Given the description of an element on the screen output the (x, y) to click on. 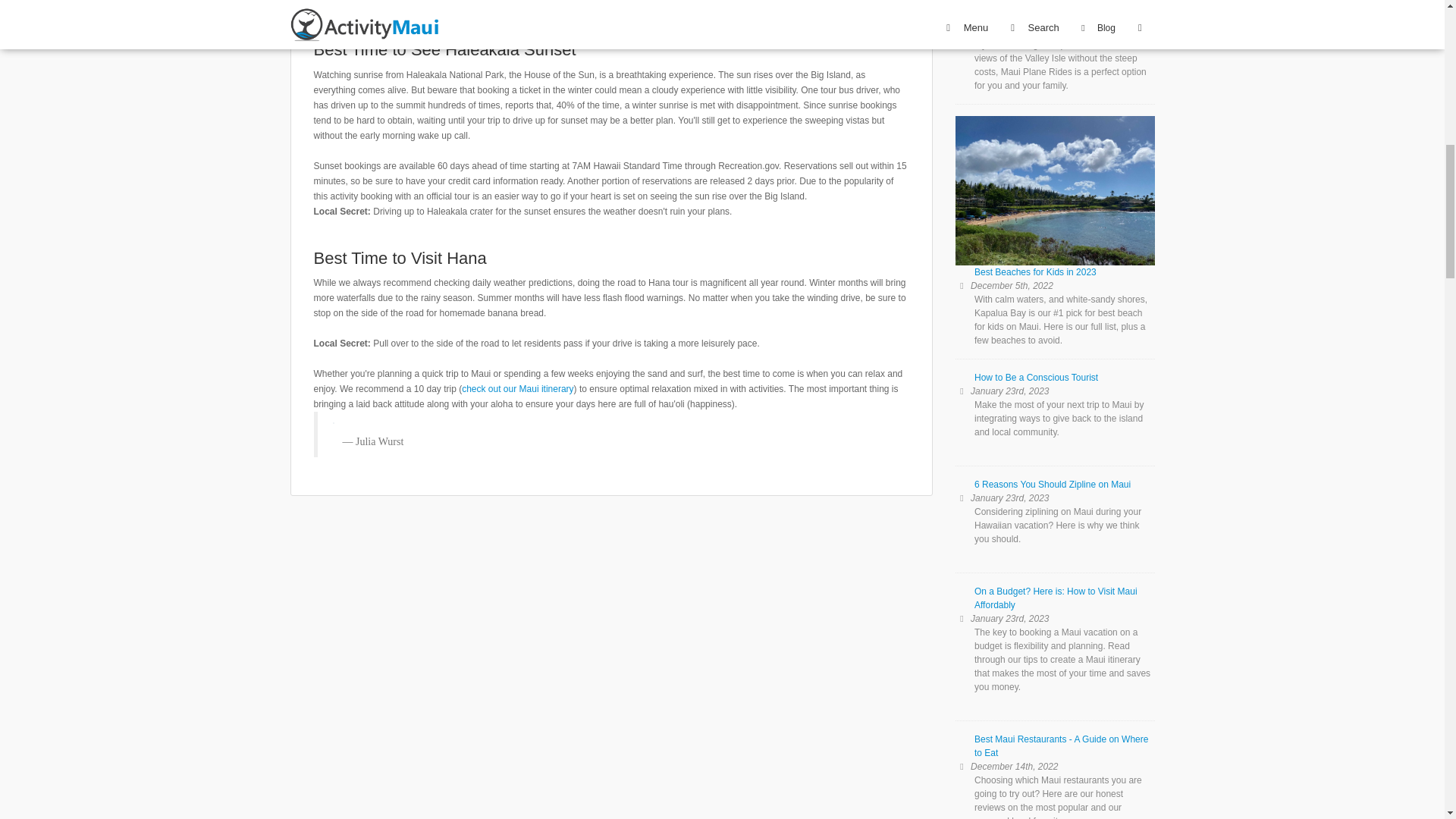
9 Reasons We Love Maui Plane Rides (1054, 18)
Best Beaches for Kids in 2023 (1054, 203)
6 Reasons You Should Zipline on Maui (1054, 490)
How to Be a Conscious Tourist (1054, 383)
On a Budget? Here is: How to Visit Maui Affordably (1054, 604)
Best Maui Restaurants - A Guide on Where to Eat (1054, 752)
check out our Maui itinerary (517, 388)
